Given the description of an element on the screen output the (x, y) to click on. 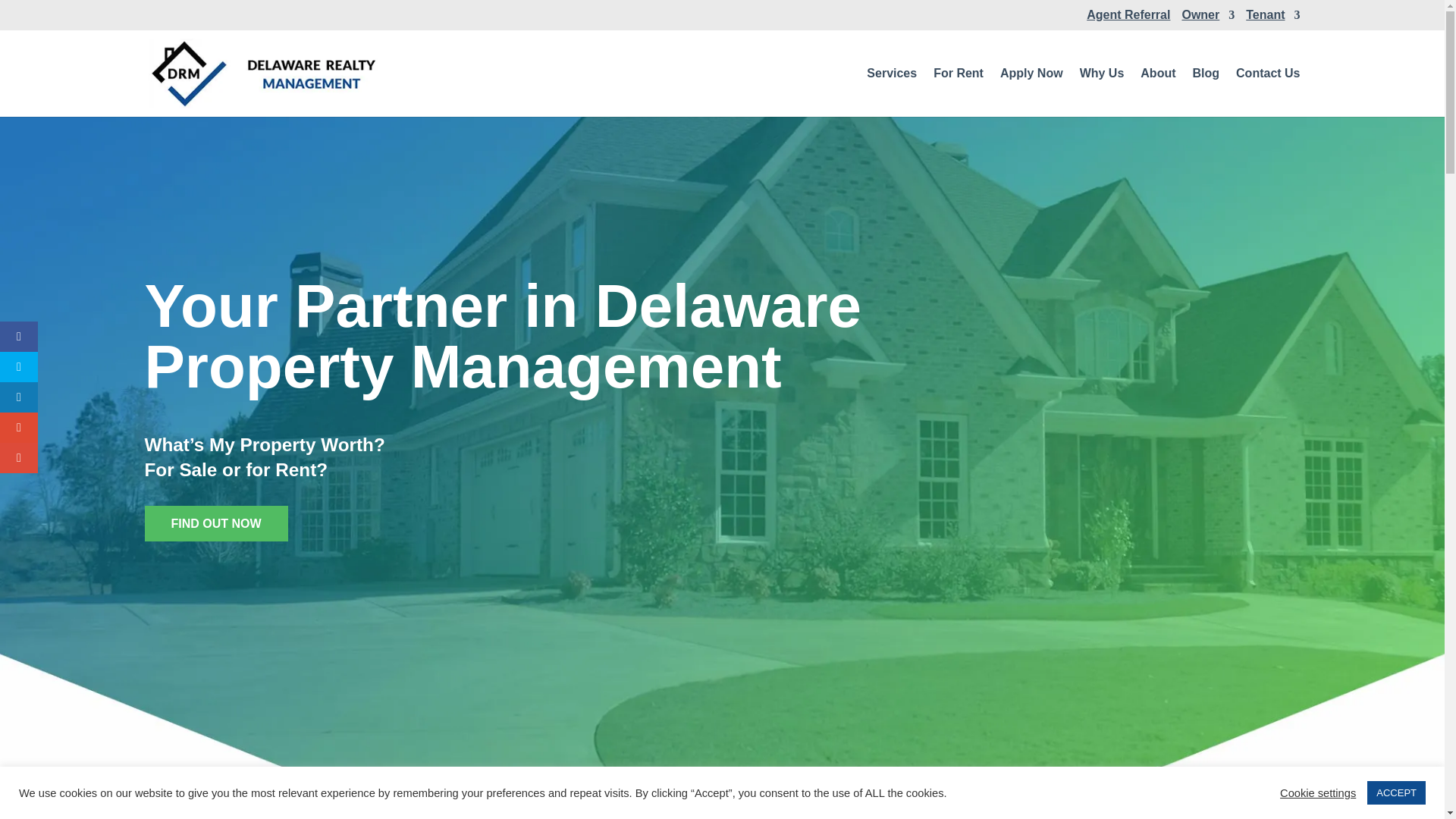
FIND OUT NOW (215, 523)
For Rent (958, 92)
Contact Us (1268, 92)
Agent Referral (1128, 19)
Tenant (1273, 19)
Owner (1207, 19)
Services (891, 92)
Why Us (1102, 92)
Apply Now (1031, 92)
